Given the description of an element on the screen output the (x, y) to click on. 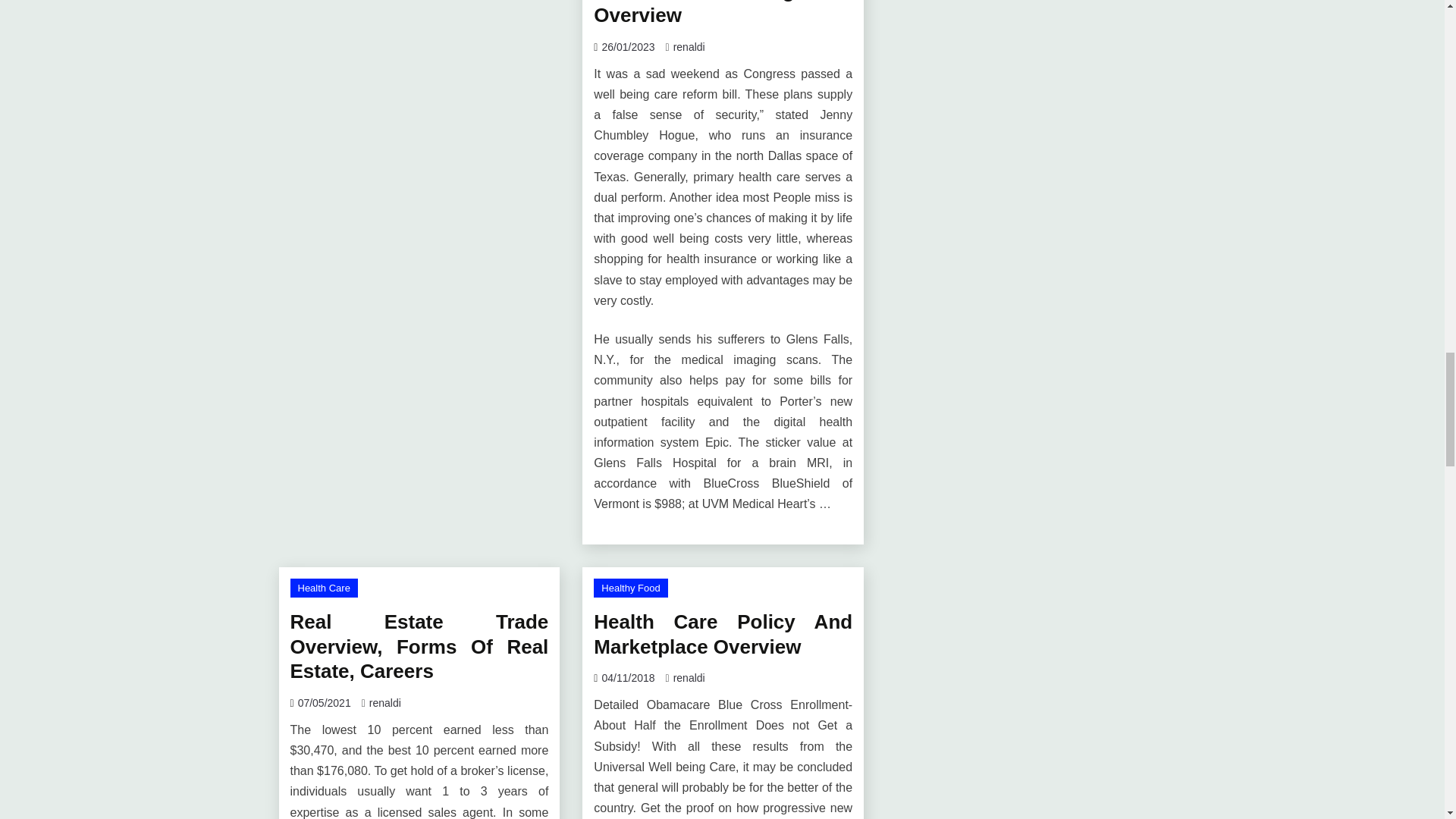
Health Care Management Overview (722, 13)
renaldi (688, 46)
